Given the description of an element on the screen output the (x, y) to click on. 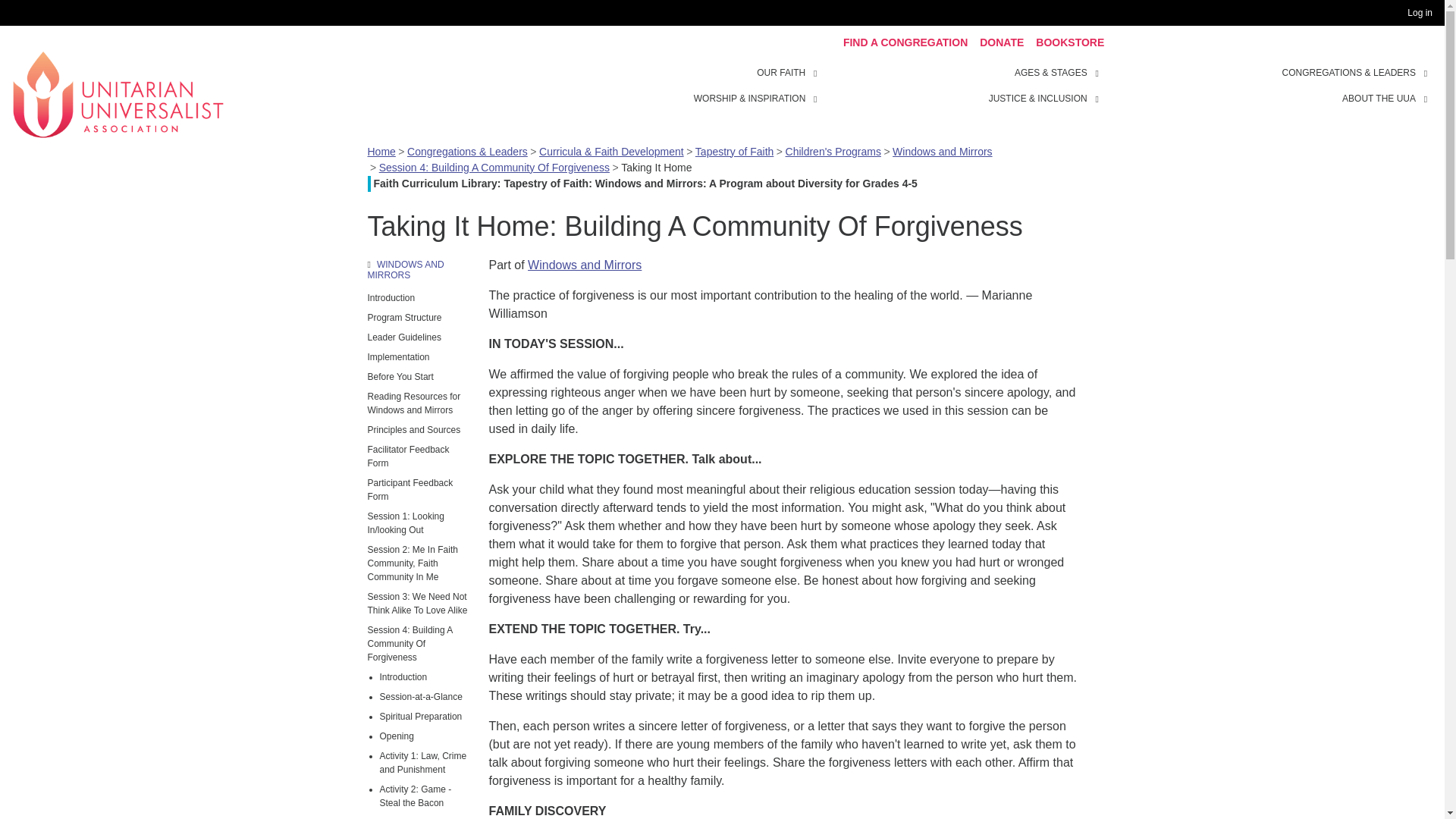
FIND A CONGREGATION (905, 42)
Site Menu (962, 85)
OUR FAITH (781, 72)
BOOKSTORE (1069, 42)
Home (117, 92)
OUR FAITH (817, 71)
Log in (1423, 12)
DONATE (1001, 42)
Go up this menu (418, 270)
